Given the description of an element on the screen output the (x, y) to click on. 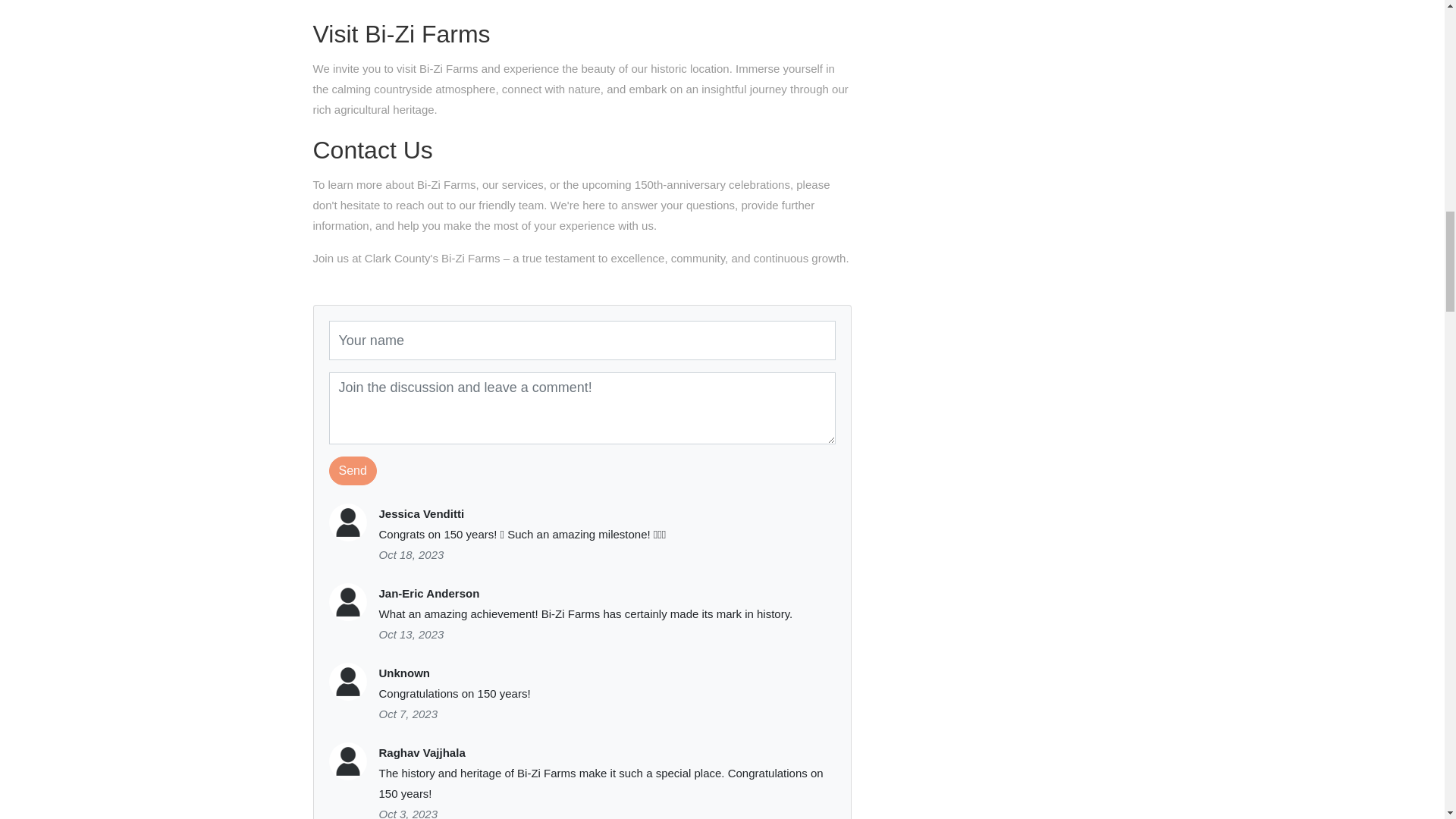
Send (353, 470)
Send (353, 470)
